Given the description of an element on the screen output the (x, y) to click on. 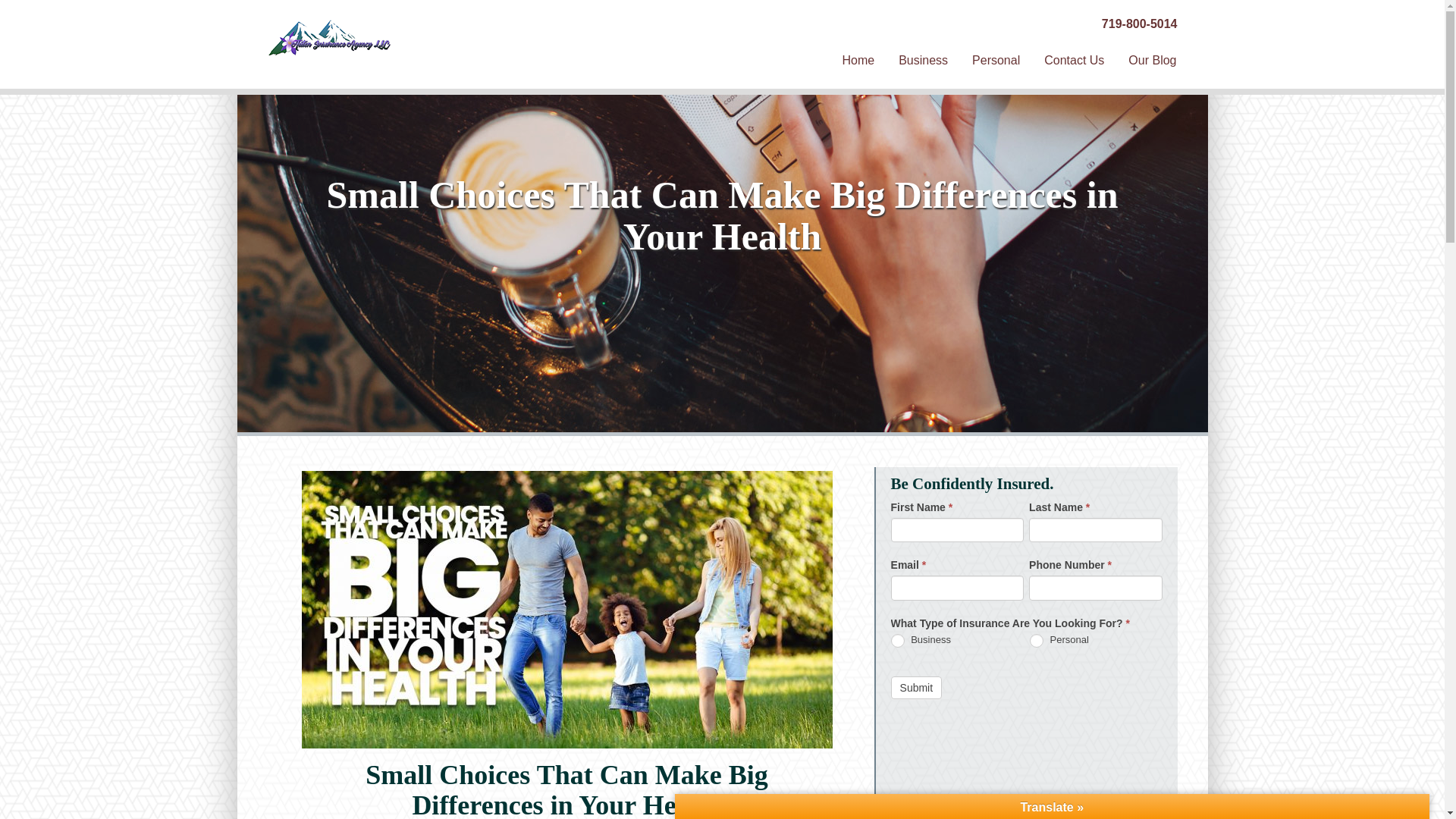
Business (897, 640)
719-800-5014 (1139, 23)
Submit (916, 687)
Business (922, 60)
Personal (1036, 640)
Contact Us (1074, 60)
Home (857, 60)
Personal (995, 60)
Our Blog (1152, 60)
